Given the description of an element on the screen output the (x, y) to click on. 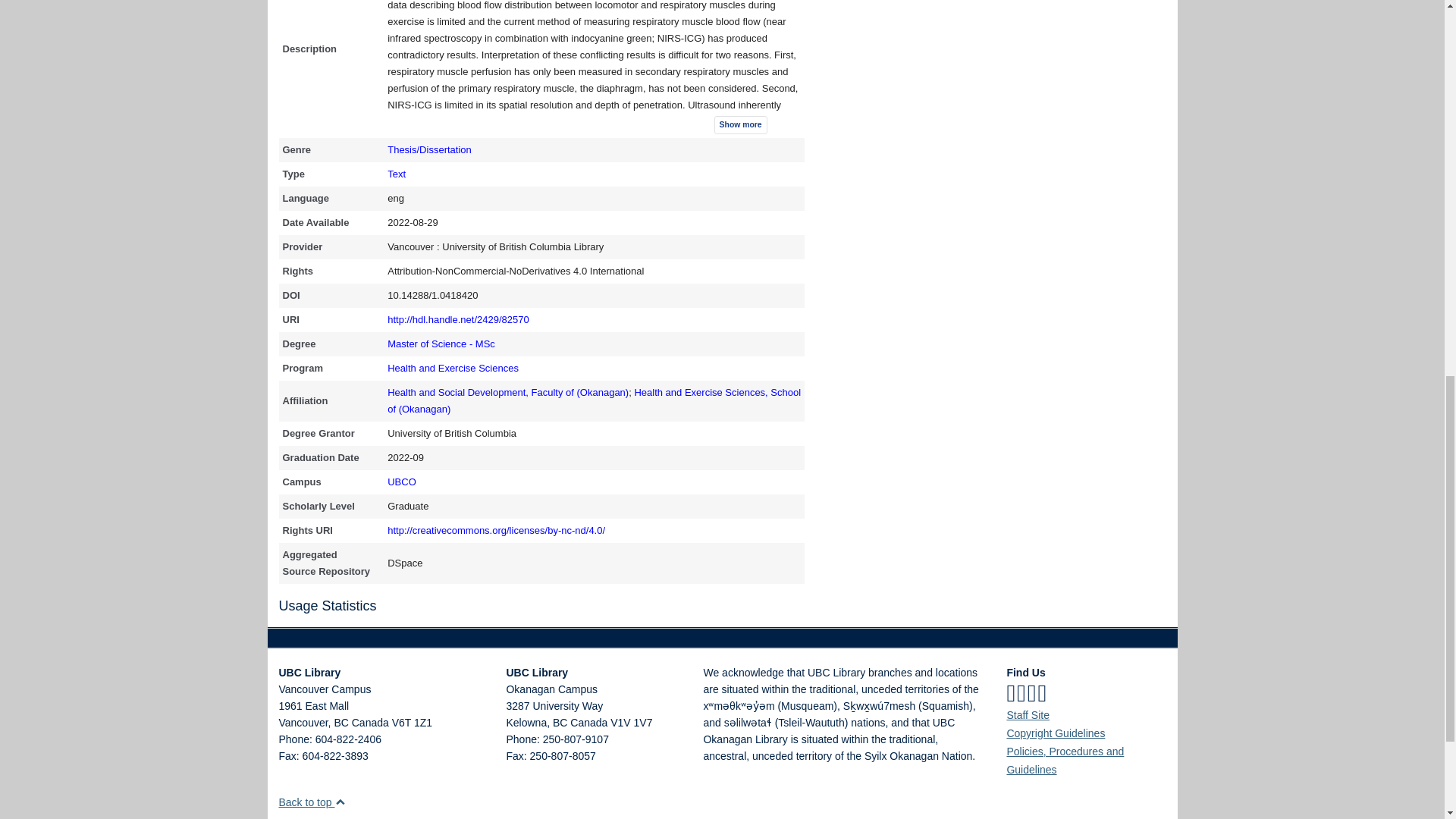
British Columbia (560, 722)
British Columbia (340, 722)
